Given the description of an element on the screen output the (x, y) to click on. 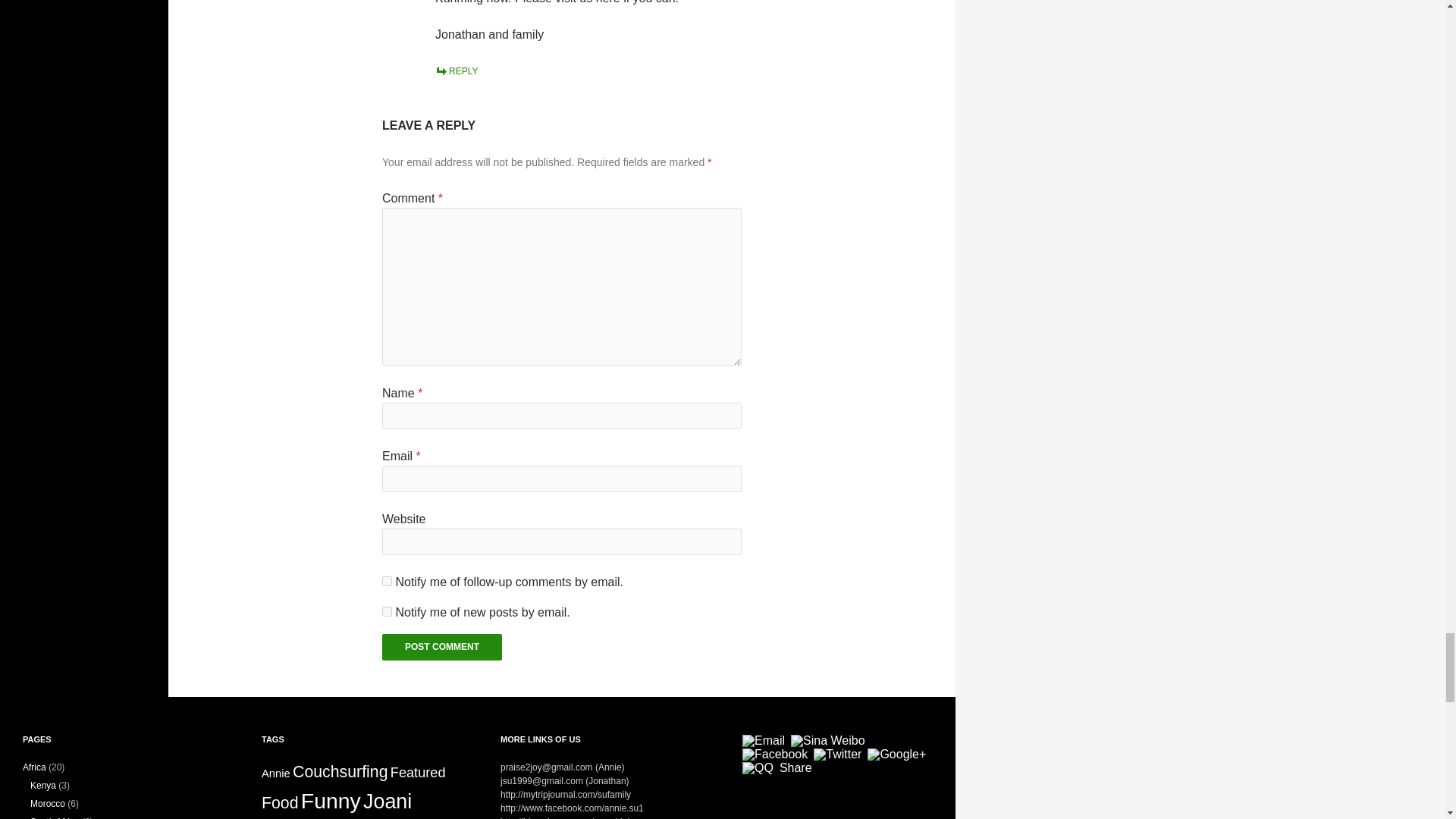
Post Comment (441, 646)
subscribe (386, 581)
subscribe (386, 611)
